Given the description of an element on the screen output the (x, y) to click on. 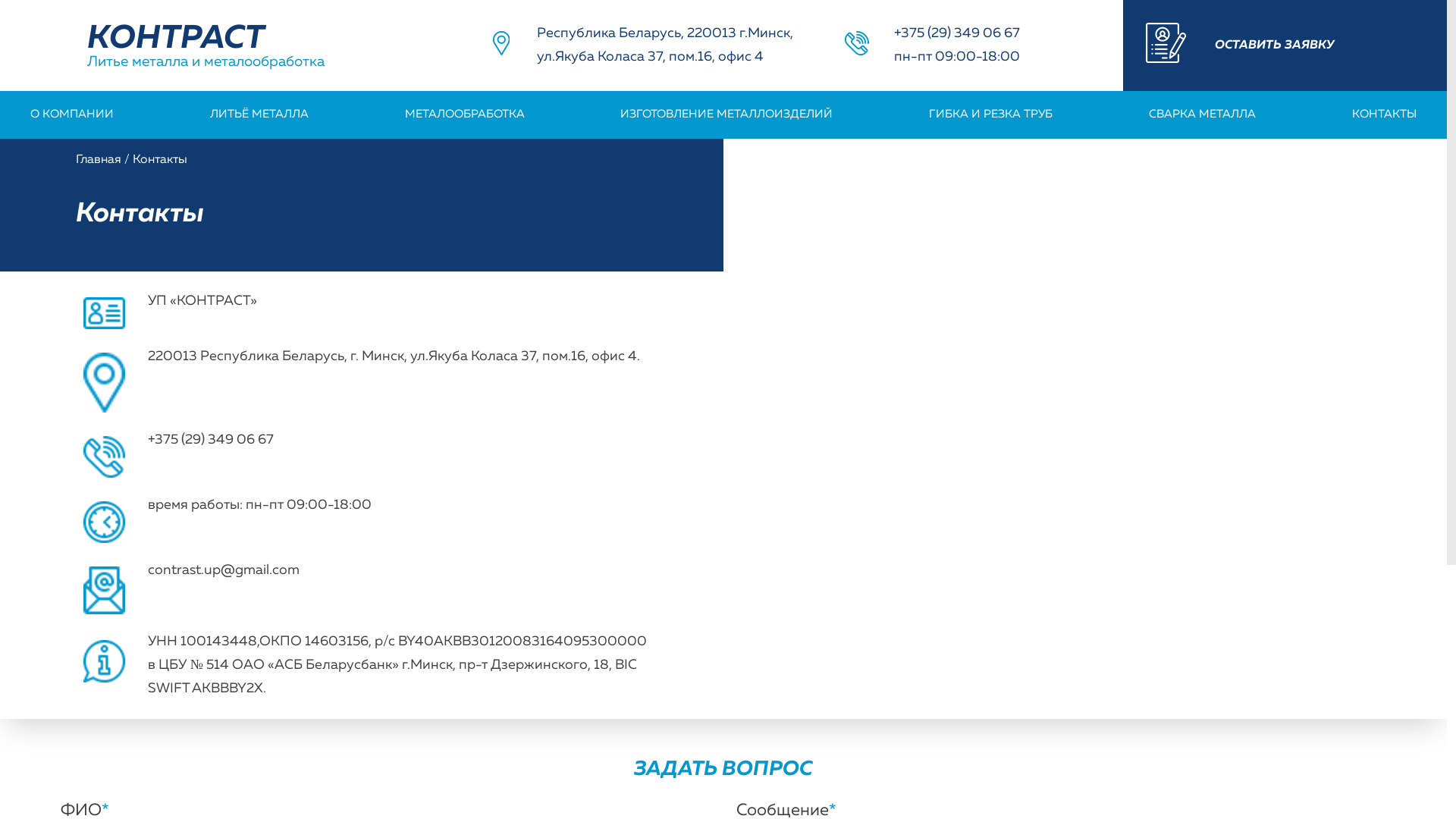
+375 (29) 349 06 67 Element type: text (956, 33)
